Given the description of an element on the screen output the (x, y) to click on. 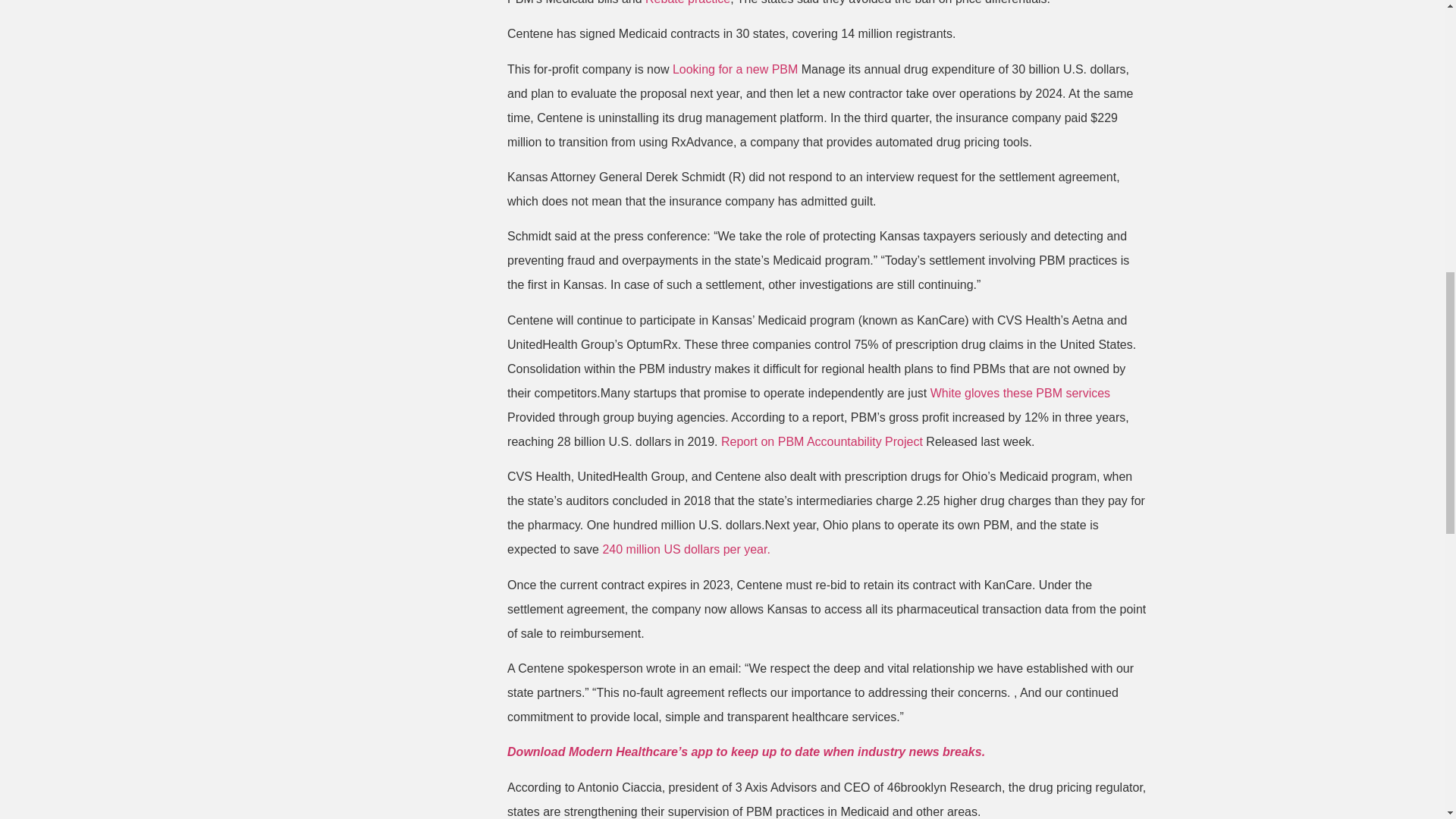
240 million US dollars per year. (686, 549)
Looking for a new PBM (734, 69)
Rebate practice (687, 2)
Report on PBM Accountability Project (823, 440)
White gloves these PBM services (1019, 392)
